Given the description of an element on the screen output the (x, y) to click on. 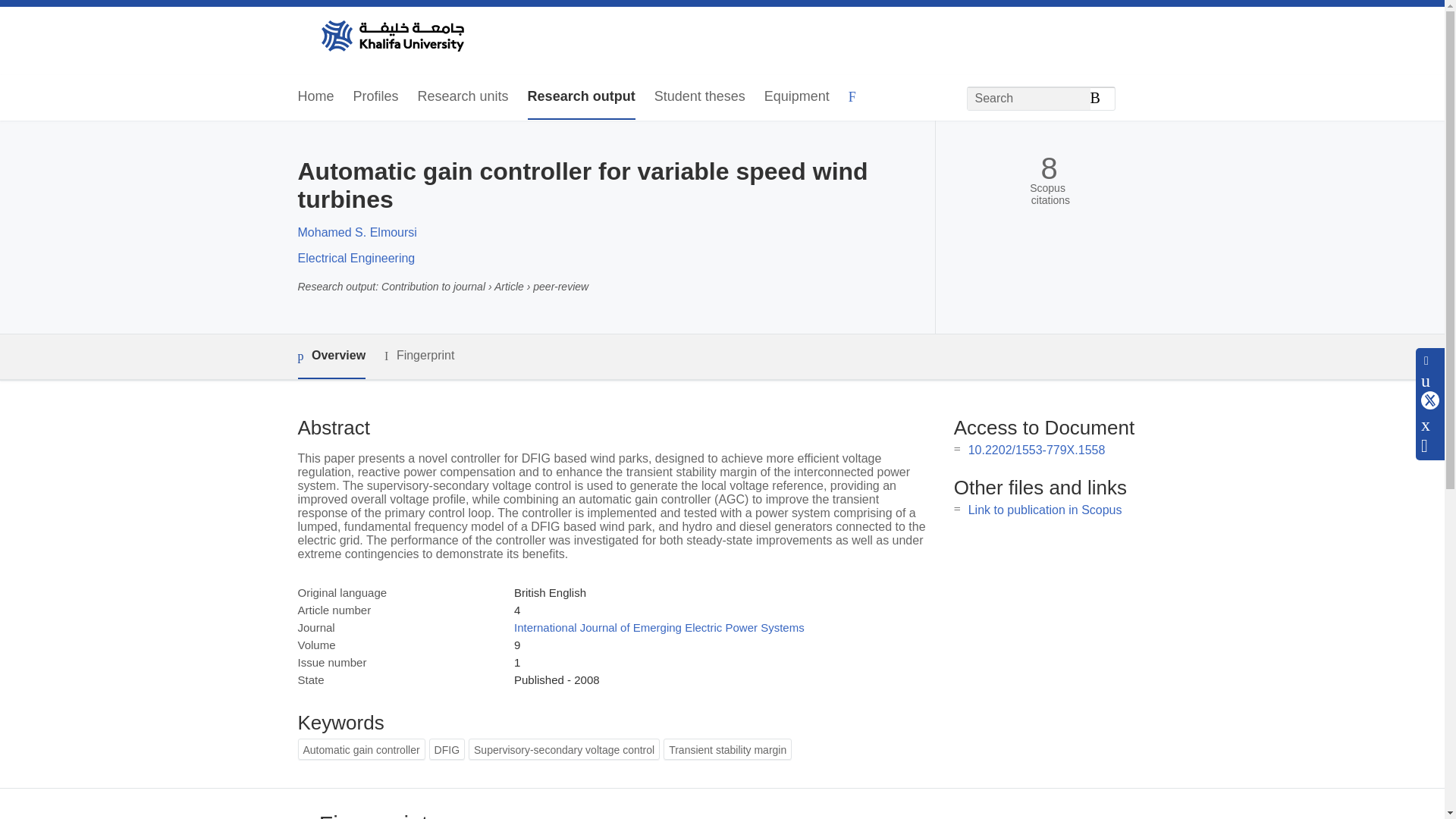
Khalifa University Home (391, 37)
Profiles (375, 97)
Student theses (699, 97)
Overview (331, 356)
Mohamed S. Elmoursi (356, 232)
Research output (580, 97)
Fingerprint (419, 355)
International Journal of Emerging Electric Power Systems (659, 626)
Electrical Engineering (355, 257)
Research units (462, 97)
